Given the description of an element on the screen output the (x, y) to click on. 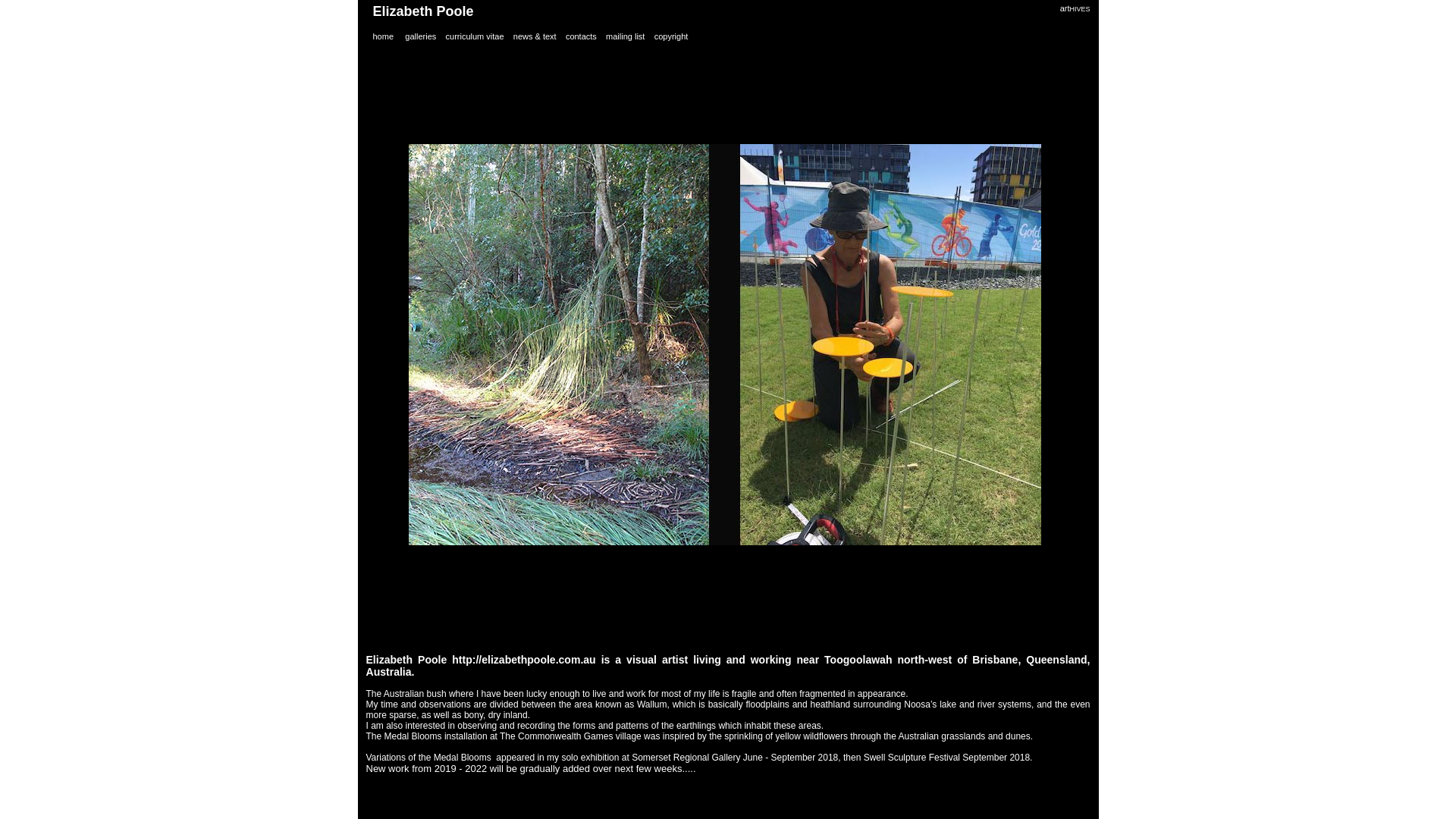
copyright Element type: text (671, 35)
artHIVES Element type: text (1075, 6)
home Element type: text (383, 35)
contacts Element type: text (580, 35)
mailing list Element type: text (624, 35)
curriculum vitae Element type: text (474, 35)
galleries Element type: text (420, 35)
news & text Element type: text (534, 35)
